Given the description of an element on the screen output the (x, y) to click on. 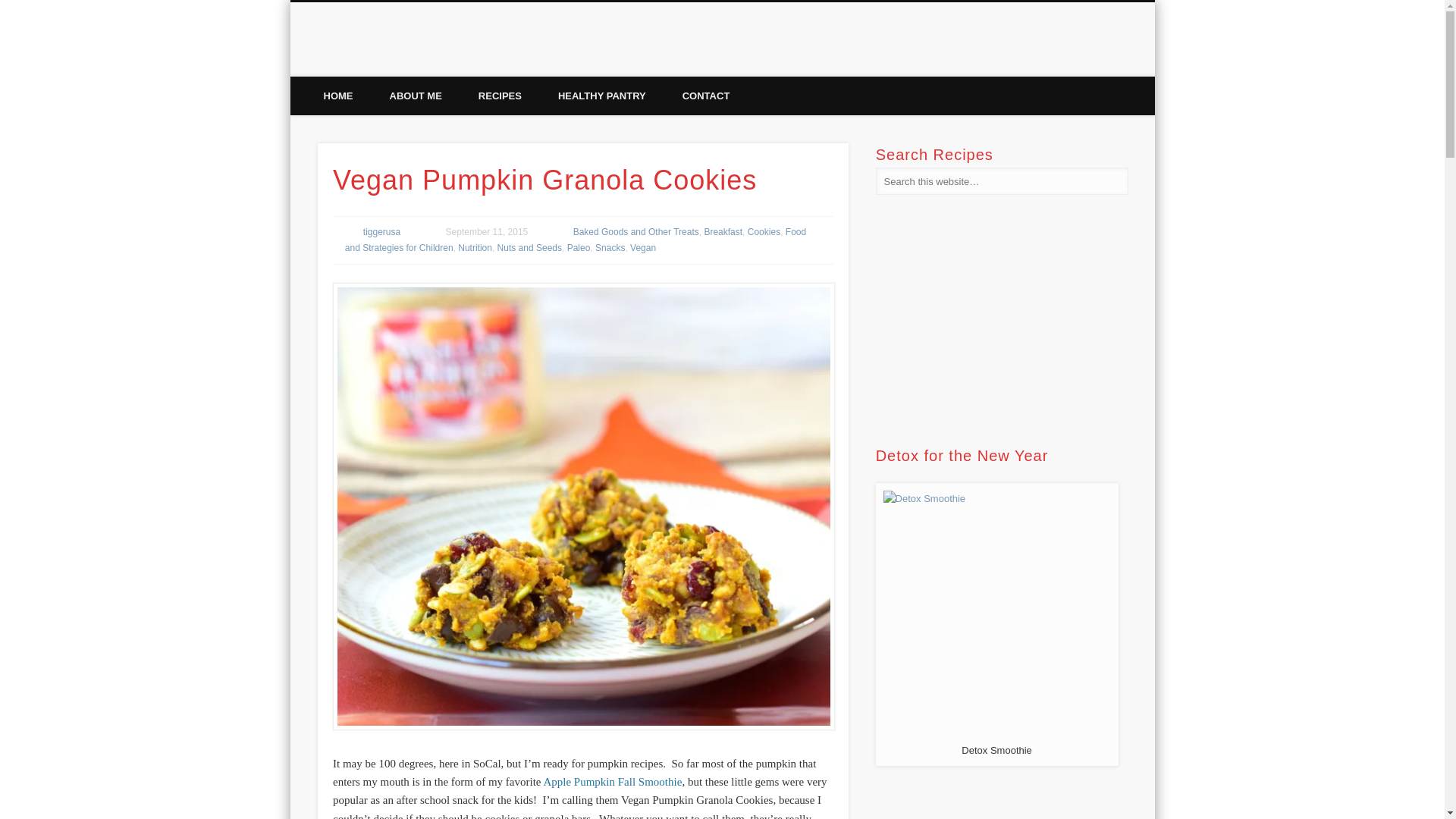
CONTACT (705, 95)
tiggerusa (381, 231)
HEALTHY PANTRY (601, 95)
Breakfast (722, 231)
Apple Pumpkin Fall Smoothie (612, 781)
Pinterest (1106, 59)
HOME (337, 95)
Nuts and Seeds (529, 247)
Posts by tiggerusa (381, 231)
Facebook (1042, 59)
